Given the description of an element on the screen output the (x, y) to click on. 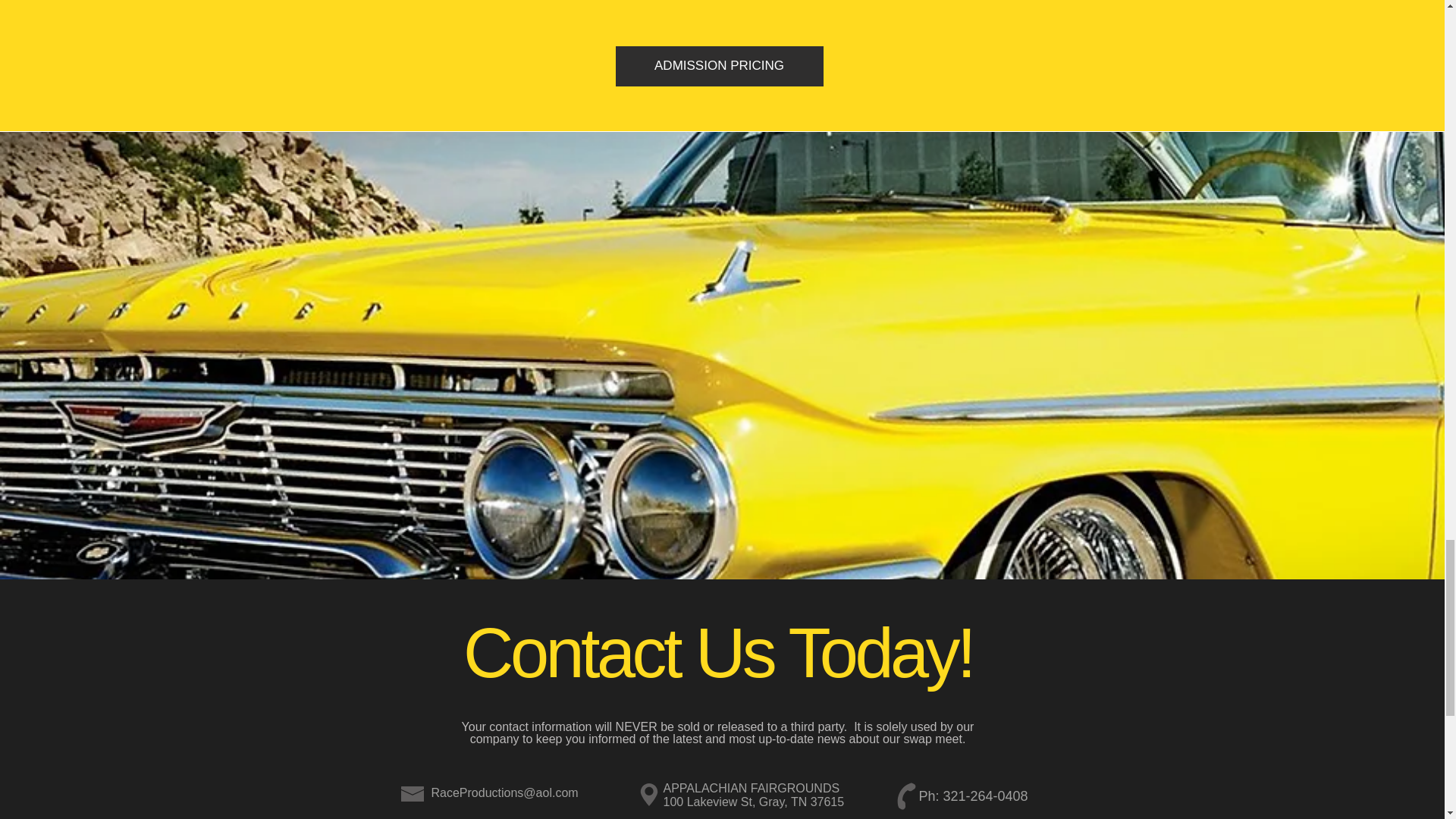
ADMISSION PRICING (719, 65)
